Given the description of an element on the screen output the (x, y) to click on. 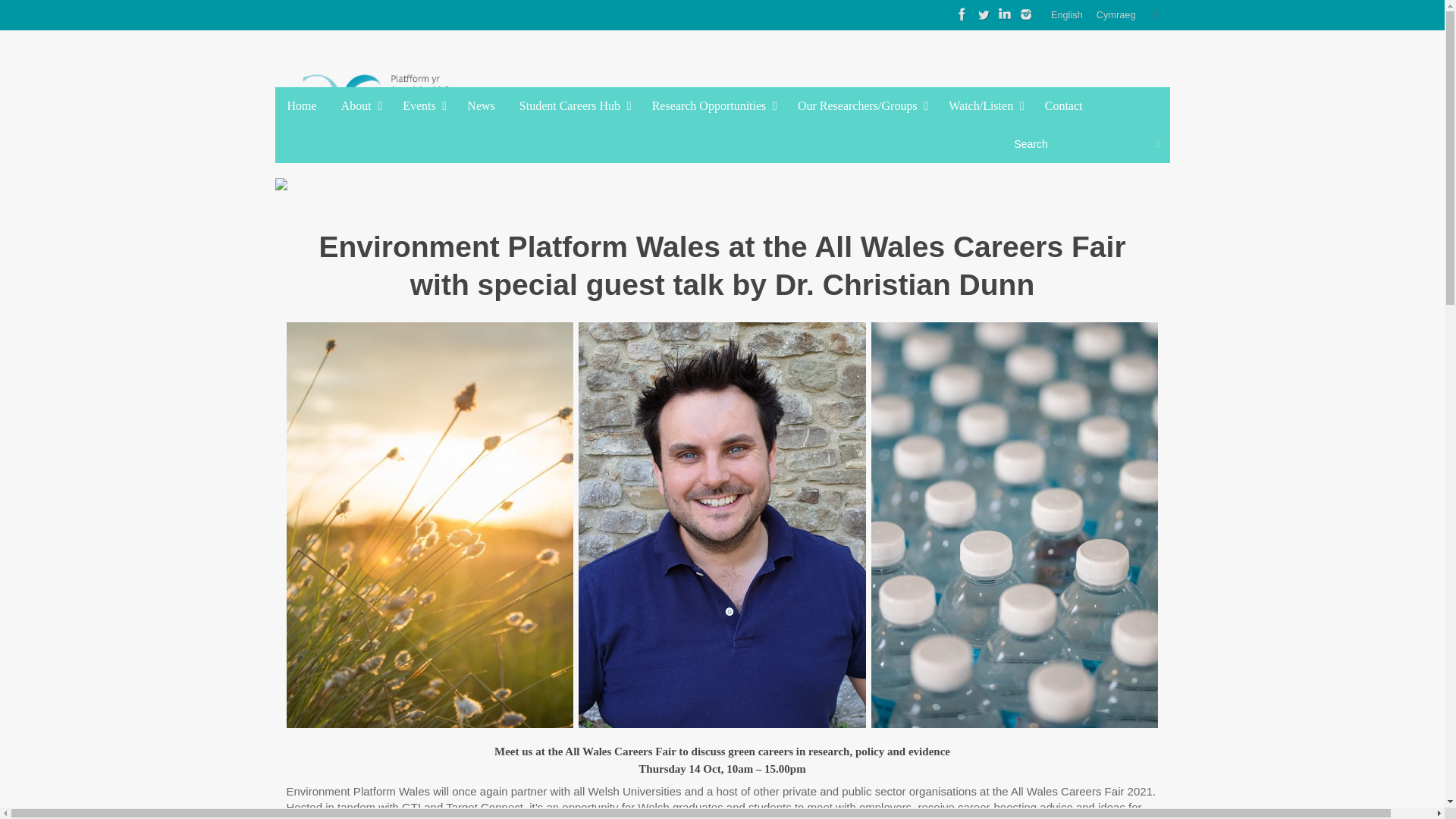
LinkedIn (1004, 14)
Instagram (1025, 14)
News (480, 105)
English (1067, 15)
About (360, 105)
epwales.org.uk (388, 103)
Student Careers Hub (573, 105)
Twitter (983, 14)
Home (302, 105)
Facebook (962, 14)
Events (422, 105)
Cymraeg (1115, 15)
